Given the description of an element on the screen output the (x, y) to click on. 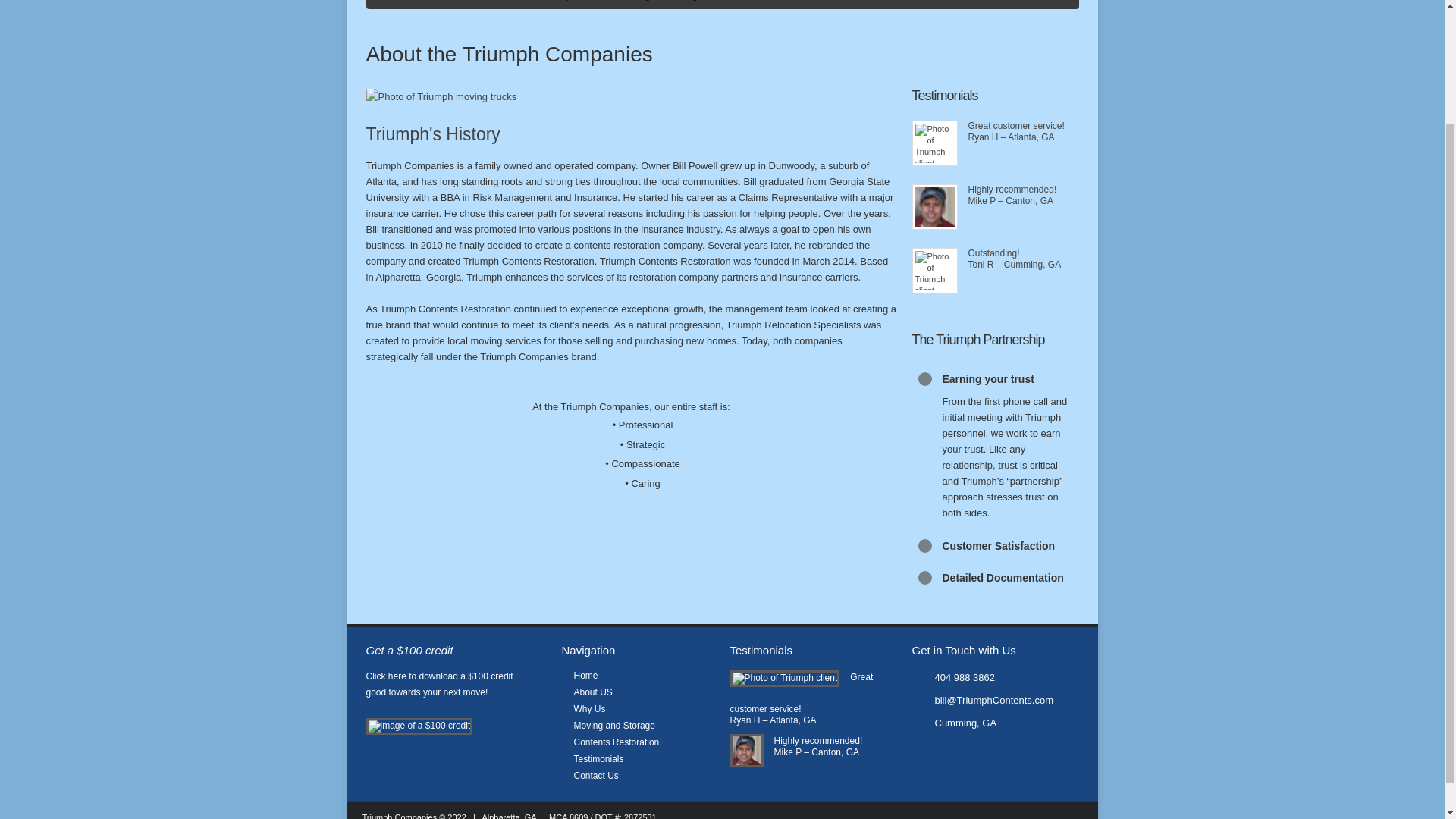
Why Us (567, 4)
Home (435, 4)
Phone (994, 678)
Contact Us (595, 775)
Testimonials (598, 758)
Contents Restoration (616, 742)
Home (584, 675)
About Us (499, 4)
Contents Restoration (782, 4)
Why Us (589, 708)
Location (994, 723)
Email (994, 700)
Contact Us (979, 4)
About US (592, 692)
about.png (630, 96)
